Given the description of an element on the screen output the (x, y) to click on. 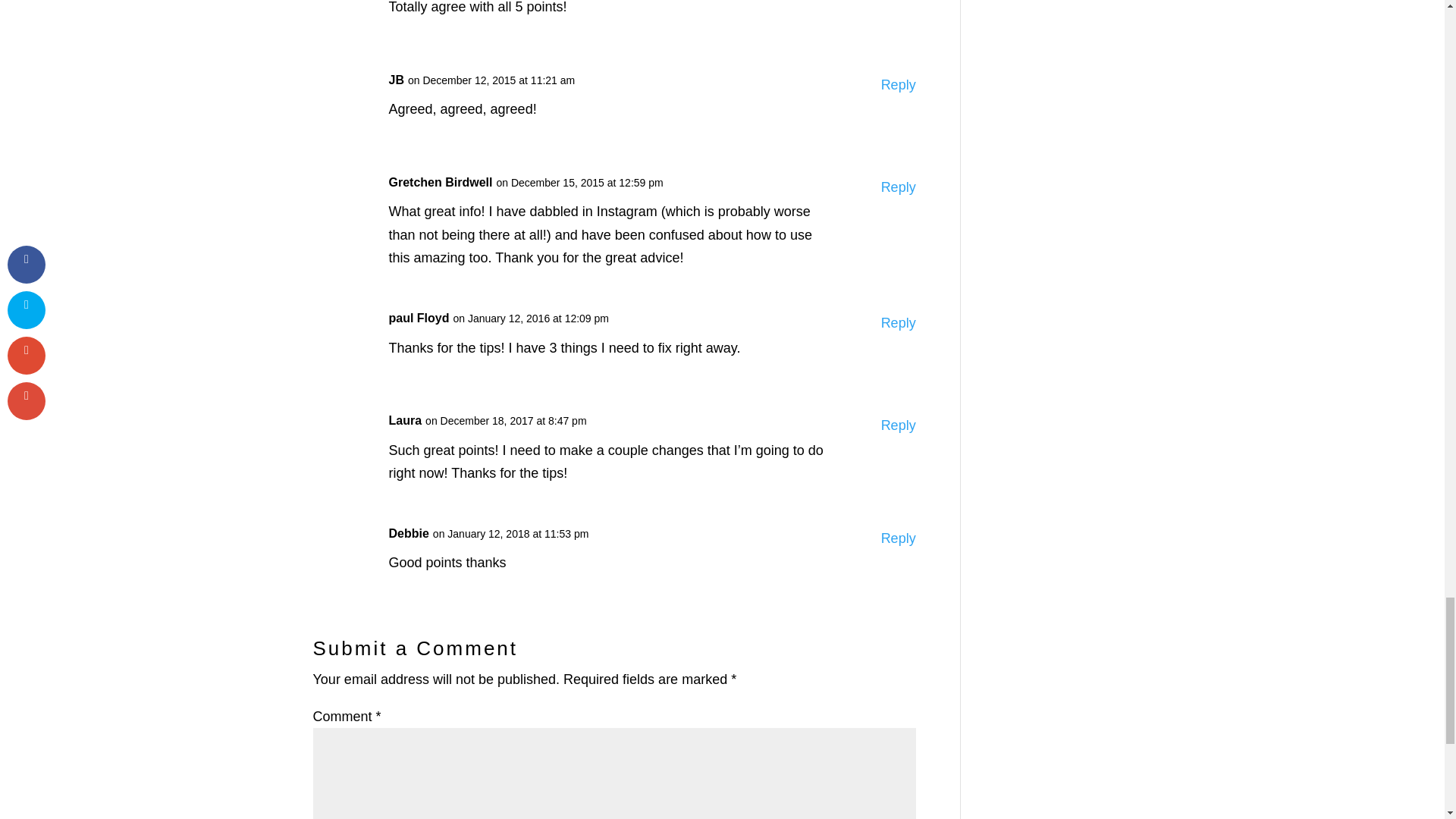
Debbie (408, 534)
Reply (897, 187)
Reply (897, 538)
Reply (897, 323)
Reply (897, 425)
JB (395, 80)
Reply (897, 85)
Gretchen Birdwell (440, 182)
Laura (405, 421)
paul Floyd (418, 318)
